Given the description of an element on the screen output the (x, y) to click on. 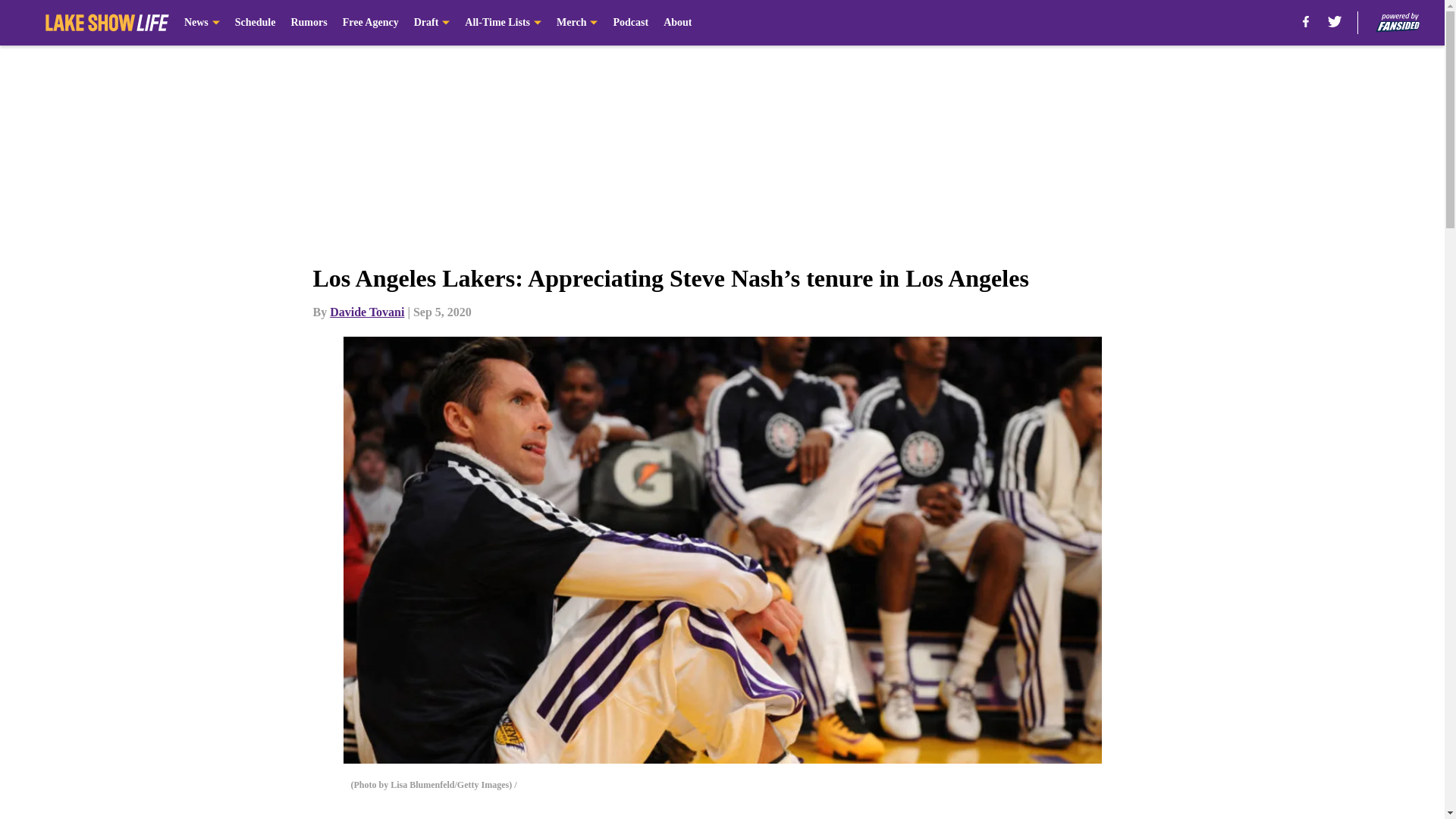
News (201, 22)
Schedule (255, 22)
Davide Tovani (367, 311)
Rumors (307, 22)
Free Agency (370, 22)
Draft (431, 22)
About (677, 22)
All-Time Lists (502, 22)
Podcast (629, 22)
